Given the description of an element on the screen output the (x, y) to click on. 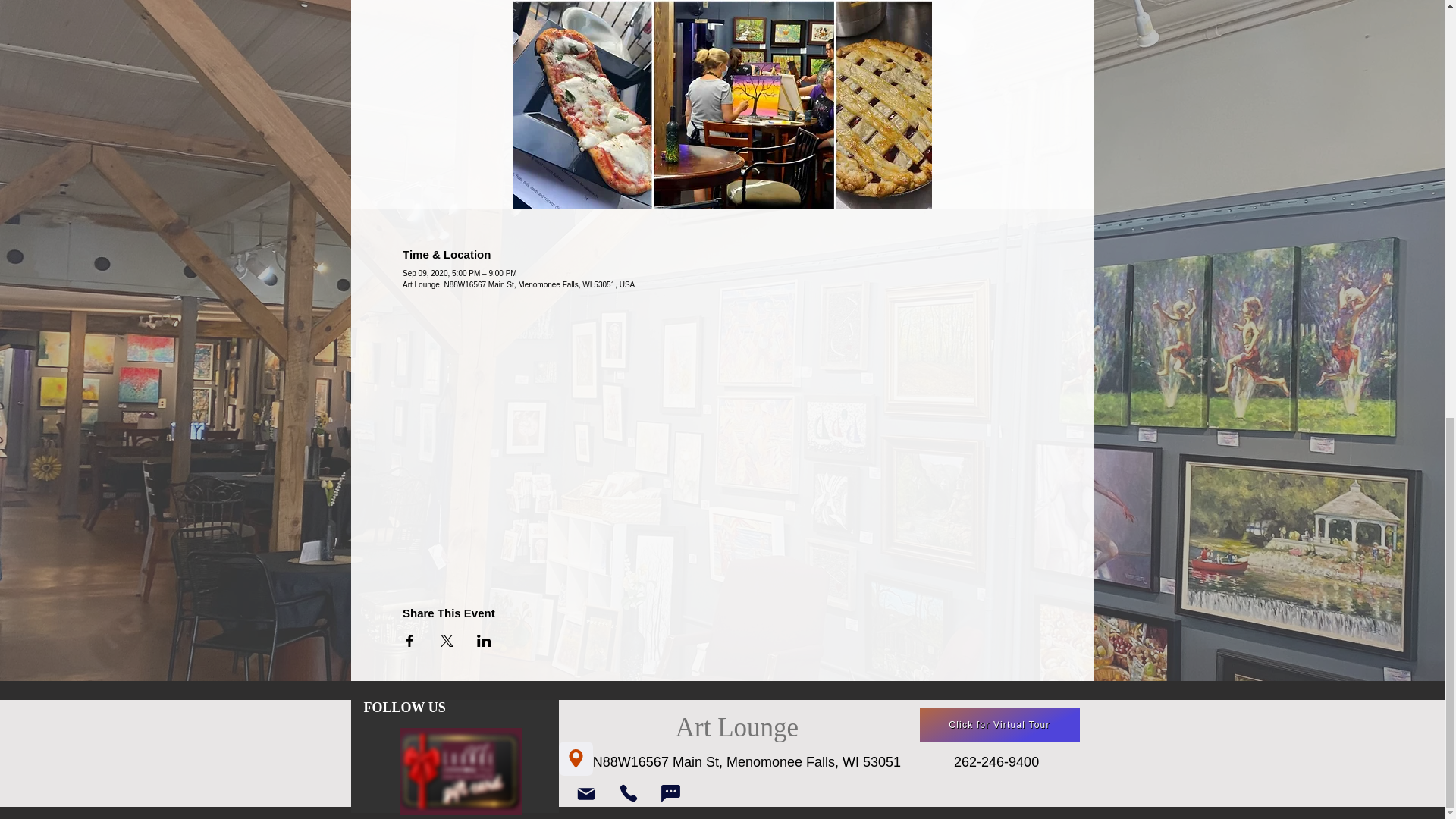
Click for Virtual Tour (998, 724)
Hand drawn envelope (459, 770)
